Given the description of an element on the screen output the (x, y) to click on. 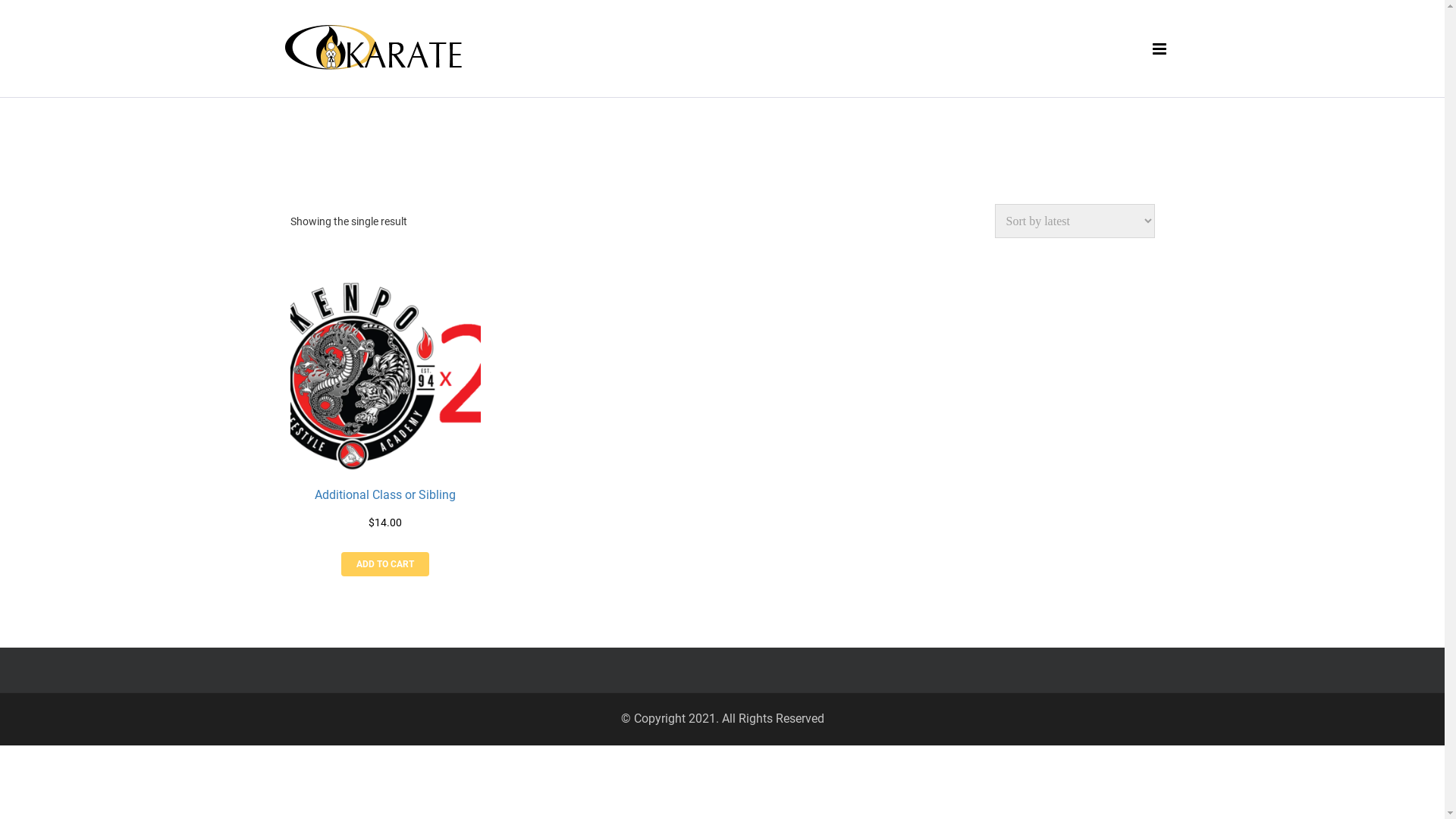
Additional Class or Sibling
$14.00 Element type: text (384, 393)
ADD TO CART Element type: text (385, 564)
